Given the description of an element on the screen output the (x, y) to click on. 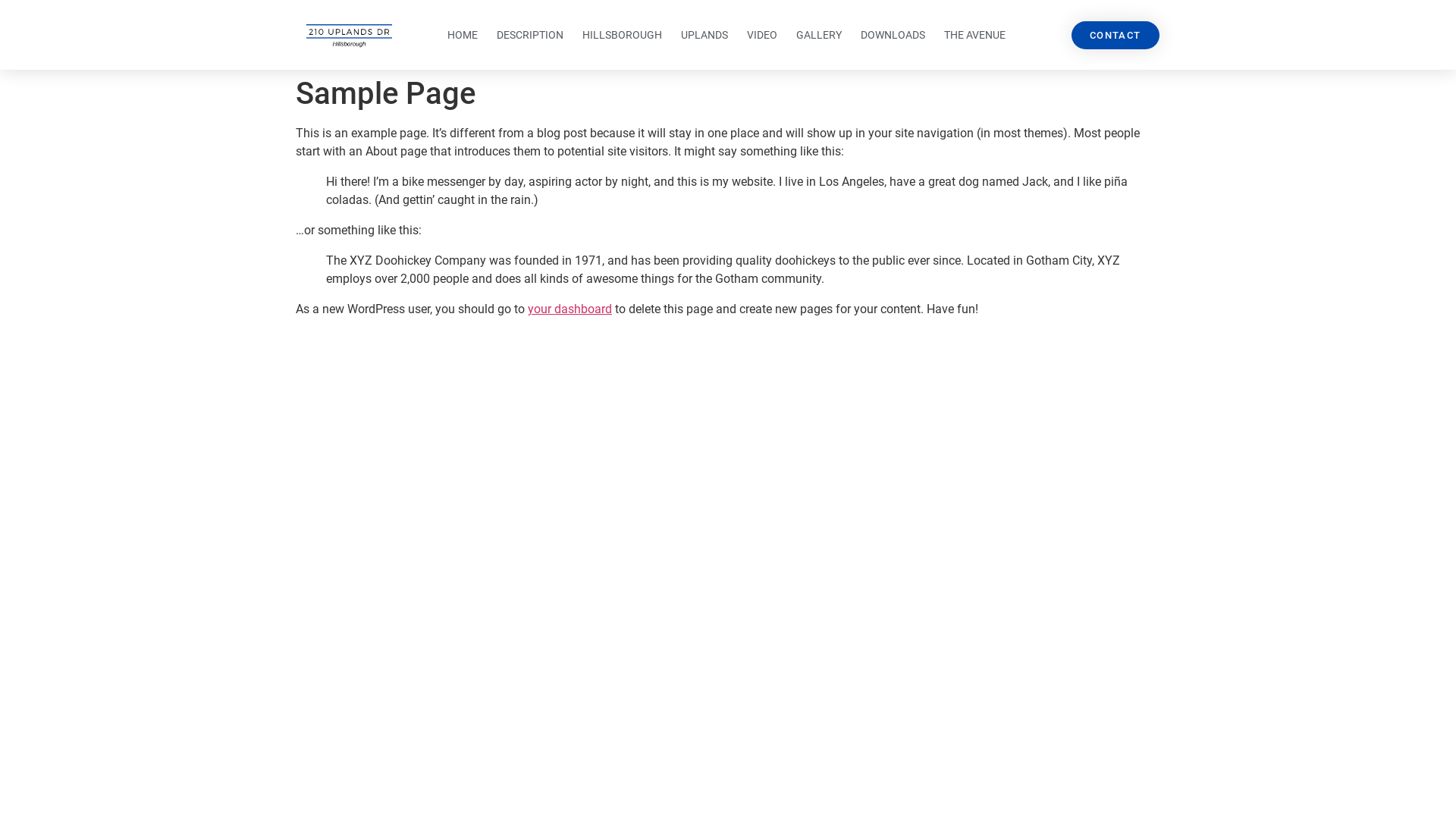
THE AVENUE Element type: text (974, 34)
DESCRIPTION Element type: text (529, 34)
GALLERY Element type: text (818, 34)
VIDEO Element type: text (761, 34)
HOME Element type: text (462, 34)
UPLANDS Element type: text (704, 34)
your dashboard Element type: text (569, 308)
HILLSBOROUGH Element type: text (622, 34)
CONTACT Element type: text (1115, 35)
DOWNLOADS Element type: text (892, 34)
